Given the description of an element on the screen output the (x, y) to click on. 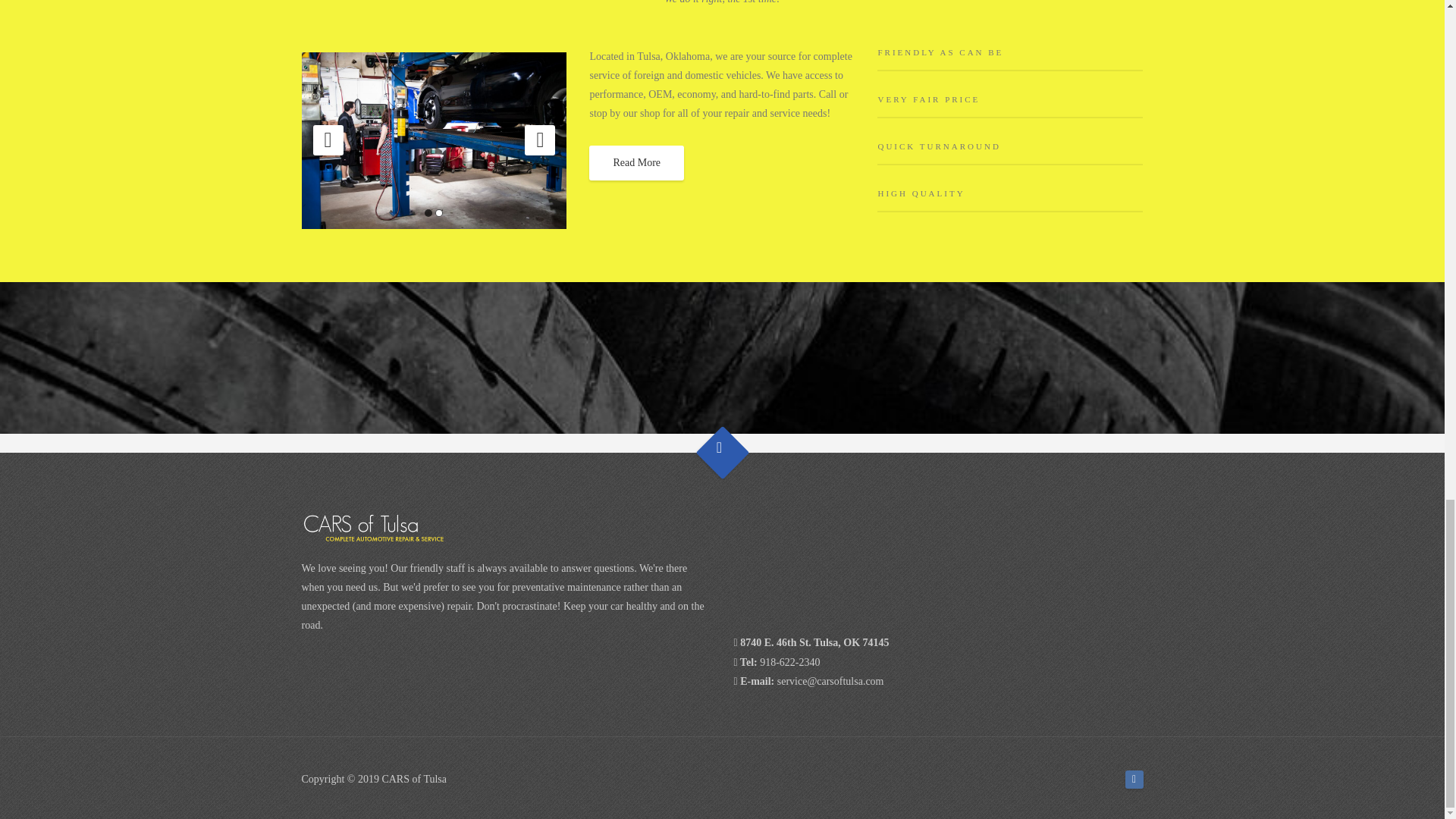
2 (438, 213)
Previous (327, 140)
1 (428, 213)
Read More (636, 162)
Next (539, 140)
Goto Top (714, 444)
